Given the description of an element on the screen output the (x, y) to click on. 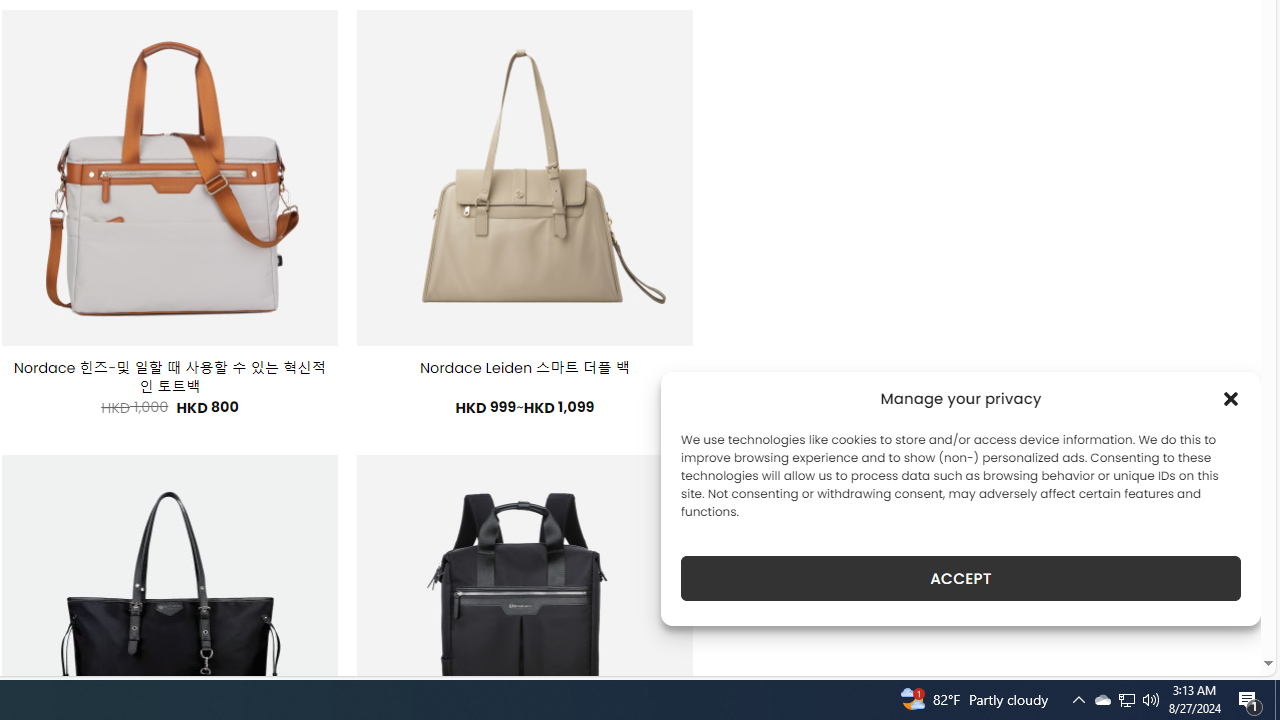
Class: cmplz-close (1231, 398)
ACCEPT (960, 578)
